Given the description of an element on the screen output the (x, y) to click on. 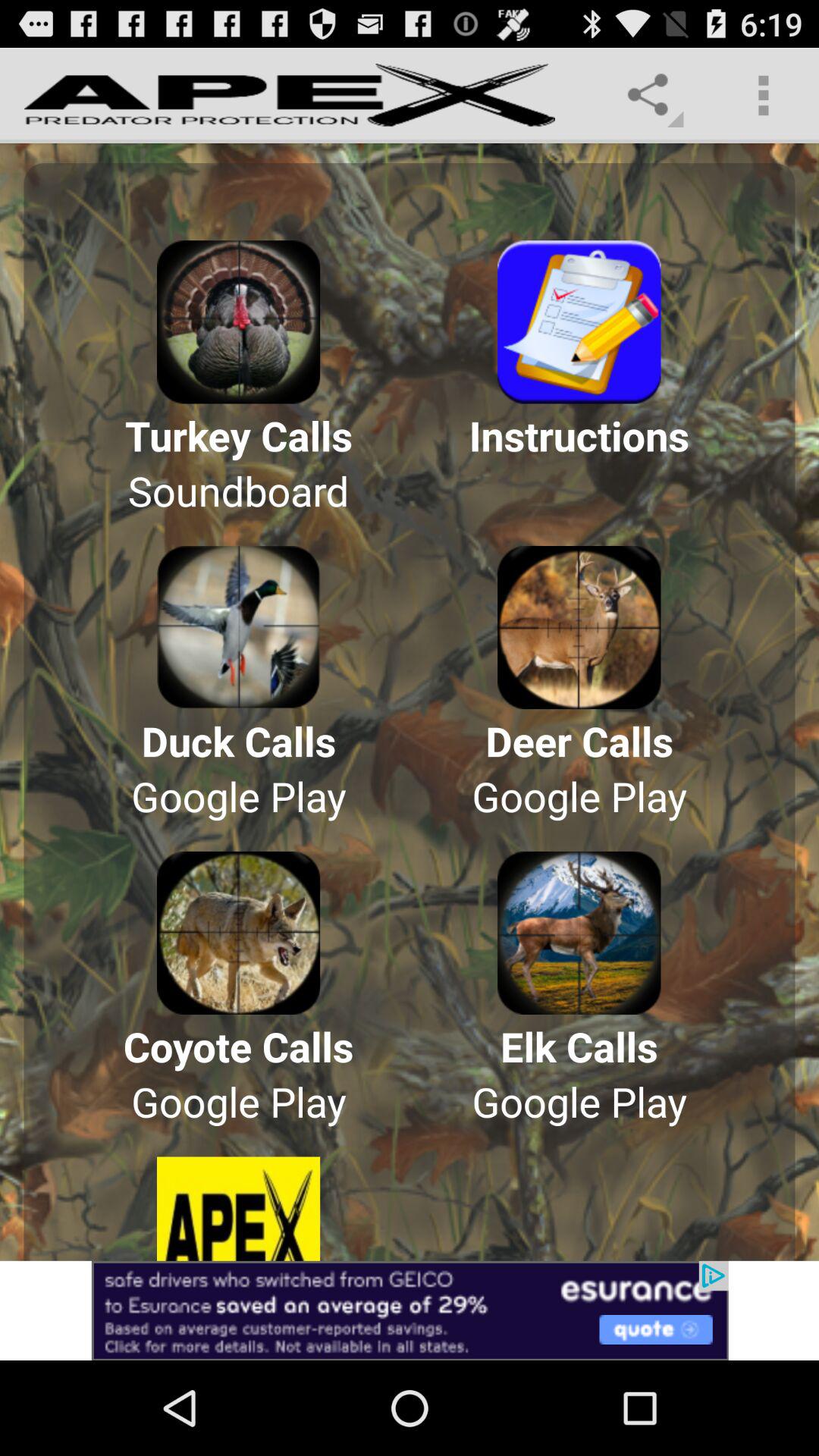
open advertisement (409, 1310)
